Given the description of an element on the screen output the (x, y) to click on. 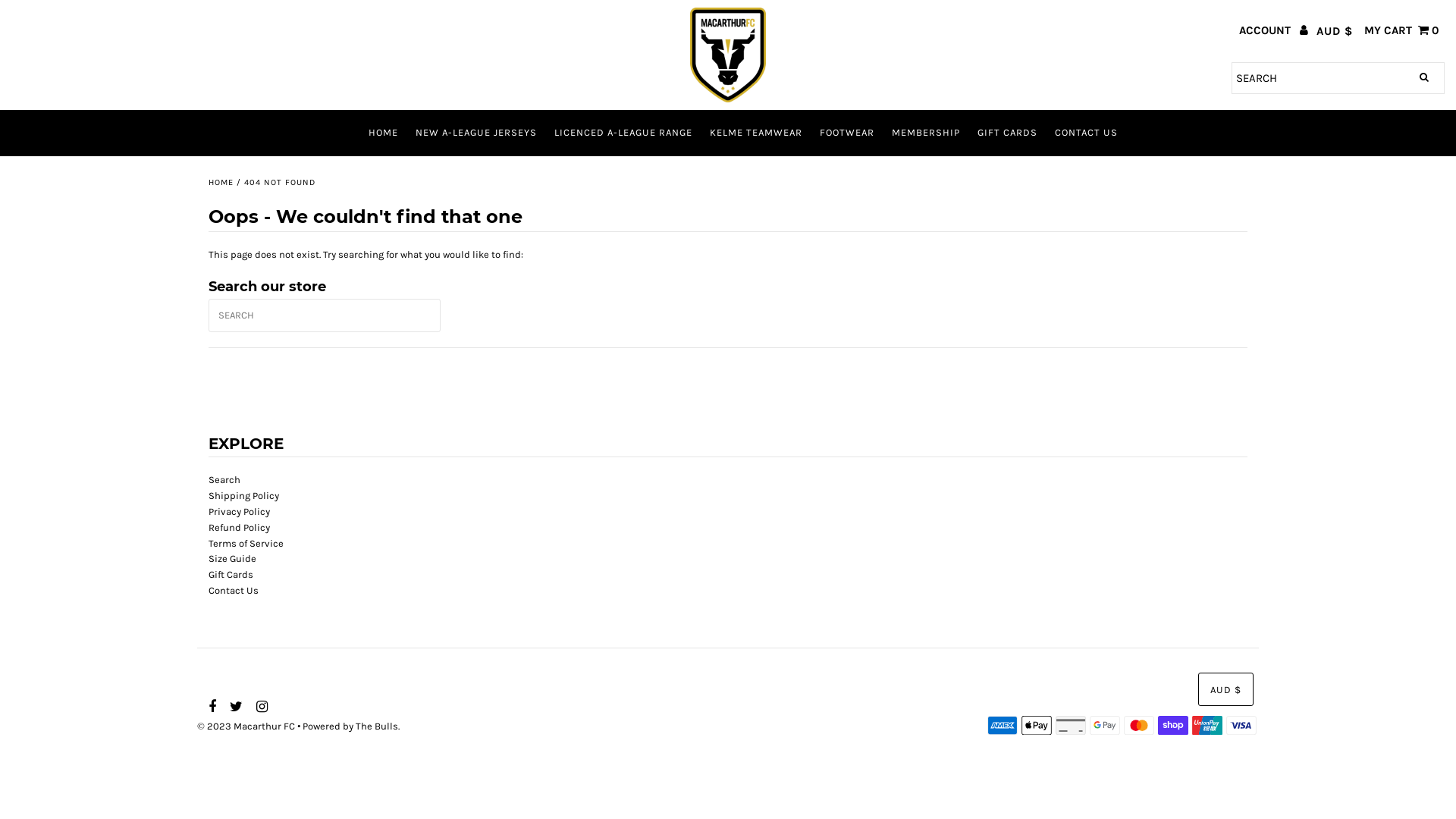
Contact Us Element type: text (233, 590)
MY CART 0 Element type: text (1401, 30)
Shipping Policy Element type: text (243, 495)
Privacy Policy Element type: text (238, 511)
FOOTWEAR Element type: text (846, 132)
AUD $ Element type: text (1225, 689)
AUD $ Element type: text (1334, 31)
HOME Element type: text (382, 132)
Terms of Service Element type: text (245, 543)
HOME Element type: text (220, 182)
Search Element type: text (224, 479)
ACCOUNT Element type: text (1273, 30)
GIFT CARDS Element type: text (1006, 132)
KELME TEAMWEAR Element type: text (755, 132)
LICENCED A-LEAGUE RANGE Element type: text (622, 132)
NEW A-LEAGUE JERSEYS Element type: text (475, 132)
Powered by The Bulls. Element type: text (350, 726)
Size Guide Element type: text (232, 558)
Gift Cards Element type: text (230, 574)
Refund Policy Element type: text (238, 527)
CONTACT US Element type: text (1086, 132)
MEMBERSHIP Element type: text (925, 132)
